Given the description of an element on the screen output the (x, y) to click on. 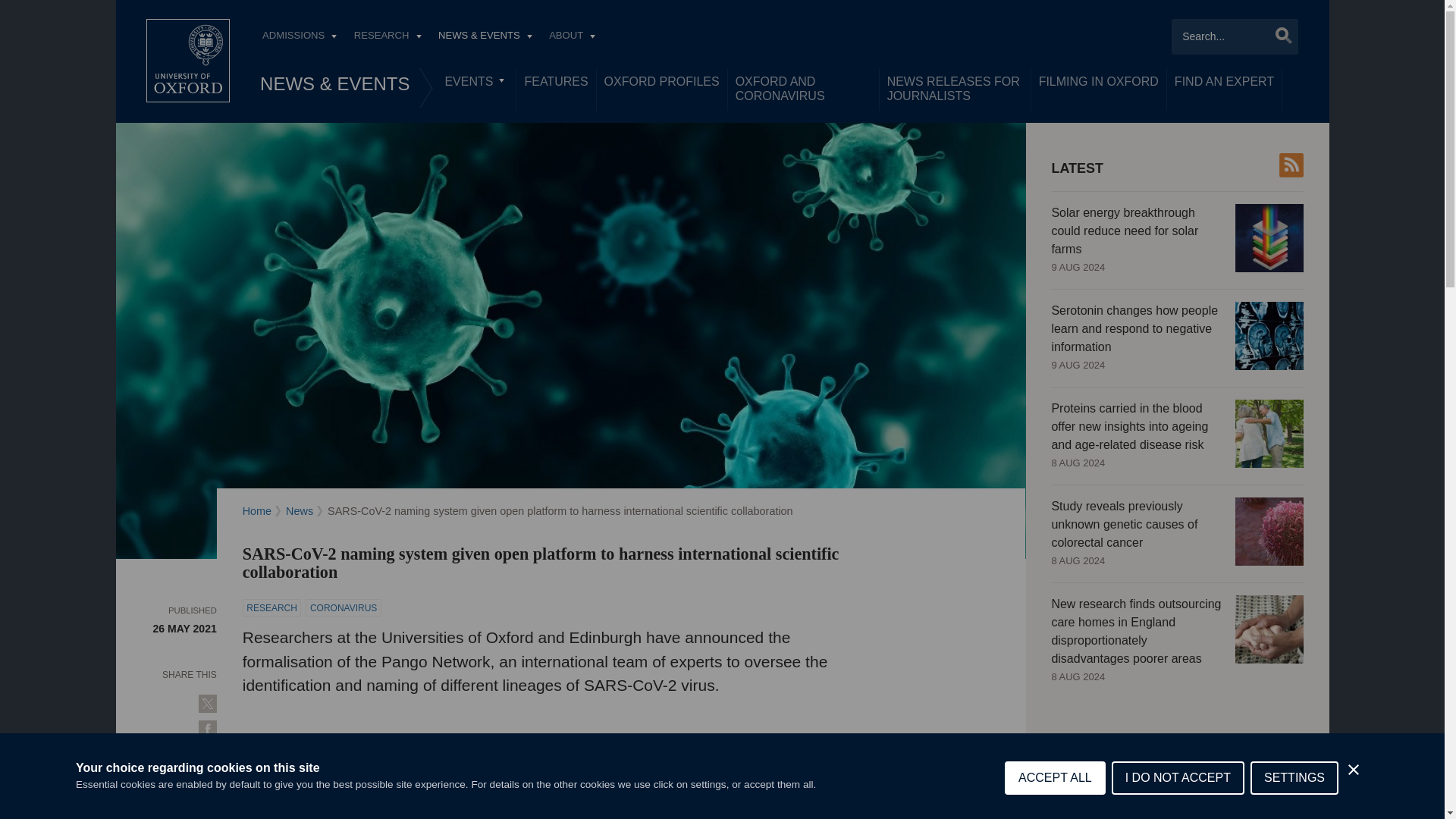
ABOUT (571, 37)
RESEARCH (387, 37)
Search (1279, 35)
Brain CT scan (1268, 336)
Home (188, 60)
Enter the terms you wish to search for. (1235, 36)
EVENTS (475, 81)
Search (1279, 35)
Home (188, 60)
